Given the description of an element on the screen output the (x, y) to click on. 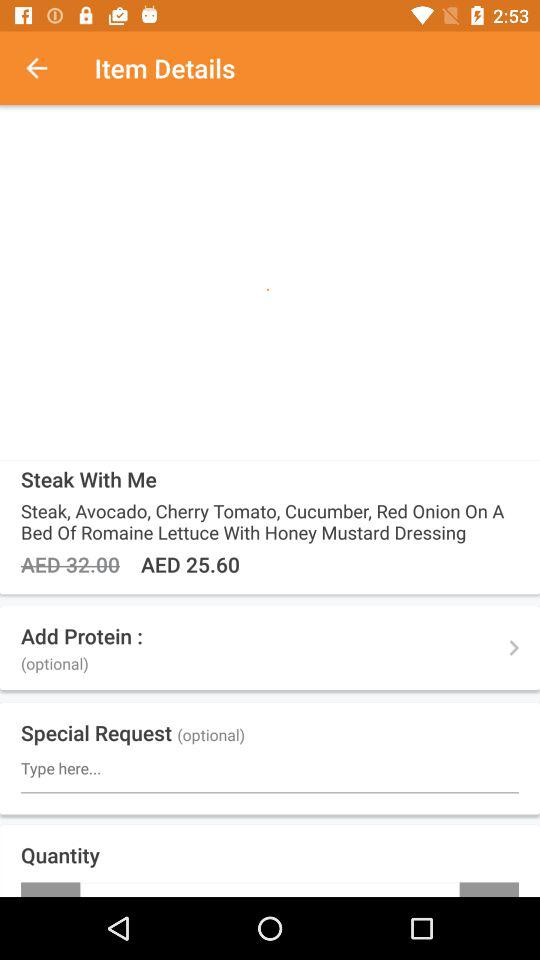
turn on - item (50, 889)
